Given the description of an element on the screen output the (x, y) to click on. 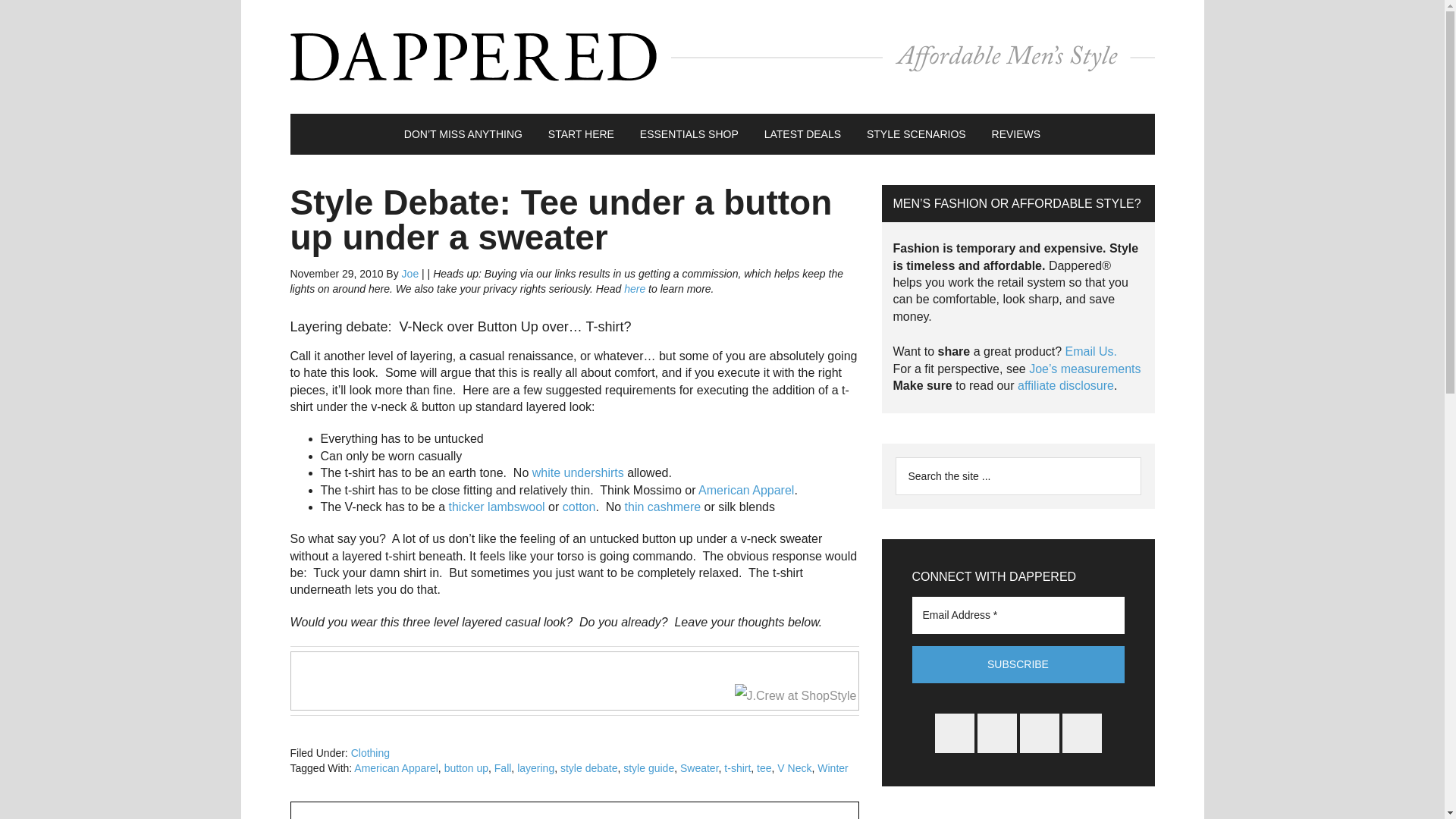
REVIEWS (1015, 133)
style guide (648, 767)
t-shirt (737, 767)
cotton (578, 506)
Email Address (1017, 614)
American Apparel (395, 767)
tee (764, 767)
button up (465, 767)
STYLE SCENARIOS (916, 133)
Fall (503, 767)
Joe (410, 273)
Sweater (699, 767)
LATEST DEALS (801, 133)
START HERE (581, 133)
